Given the description of an element on the screen output the (x, y) to click on. 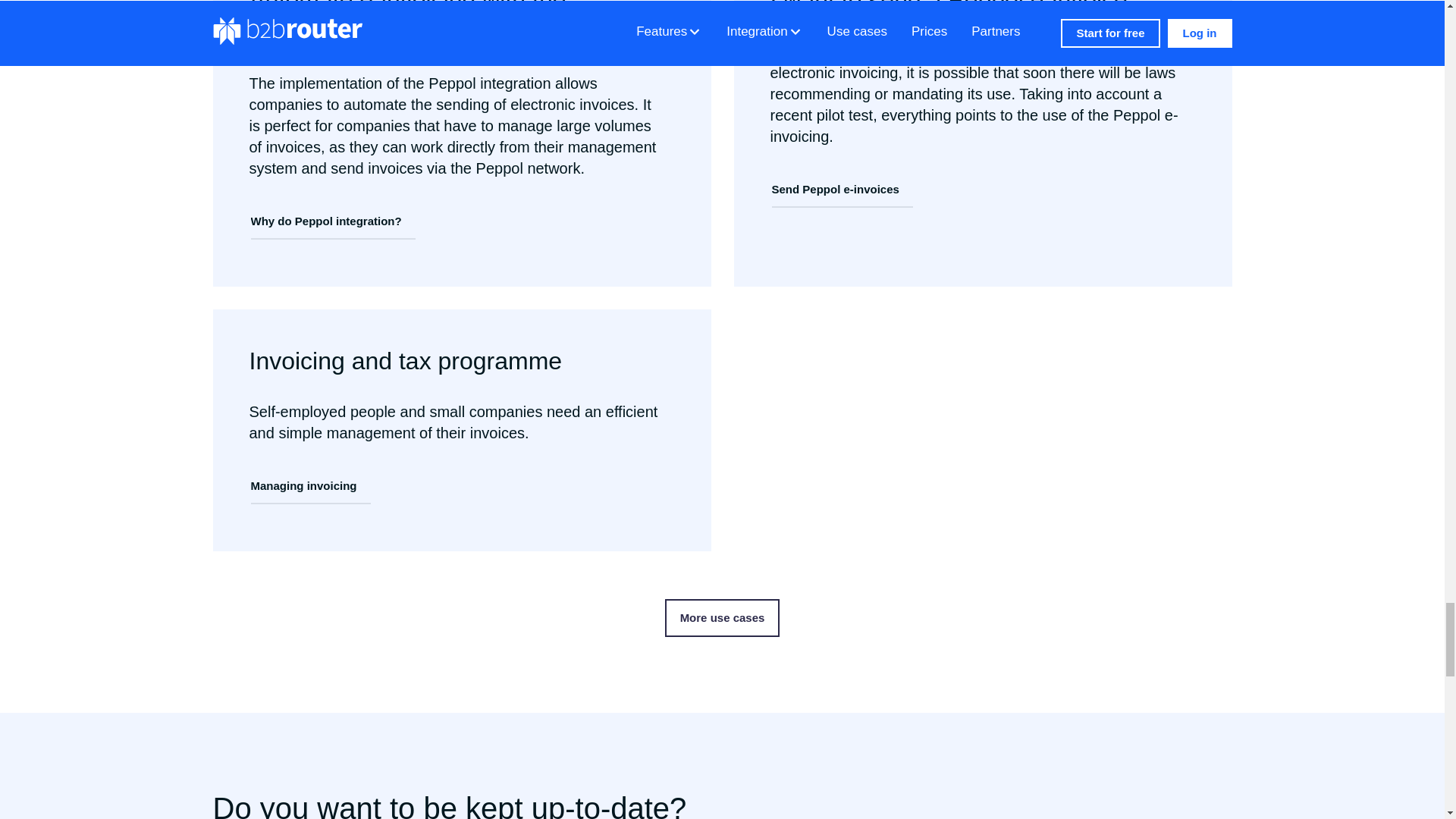
Send Peppol e-invoices (842, 190)
More use cases (722, 617)
Managing invoicing (309, 486)
Why do Peppol integration? (332, 221)
